Given the description of an element on the screen output the (x, y) to click on. 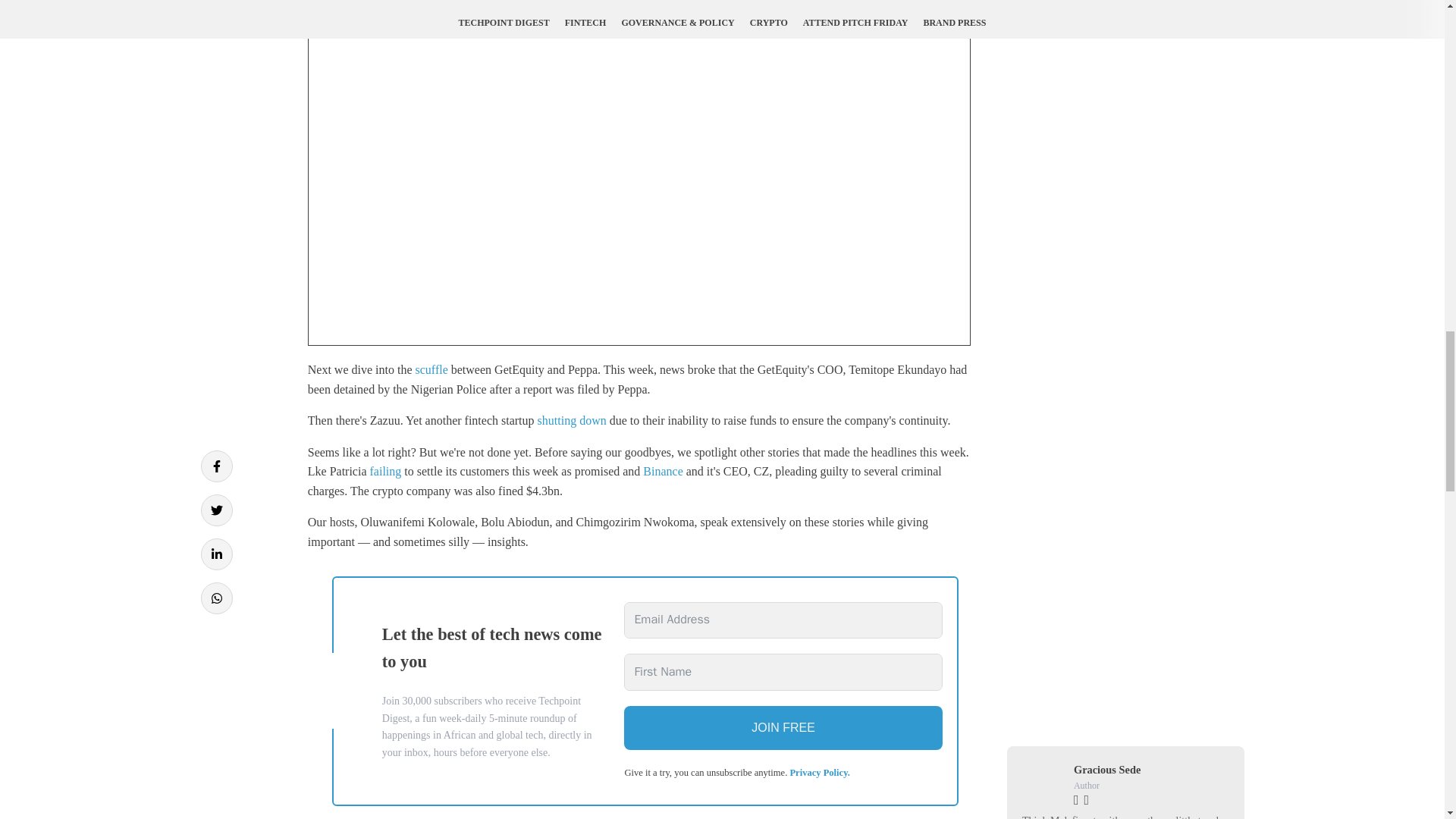
scuffle (431, 369)
failing (385, 471)
Binance (662, 471)
Privacy Policy. (818, 772)
JOIN FREE (783, 727)
shutting down (572, 420)
